Given the description of an element on the screen output the (x, y) to click on. 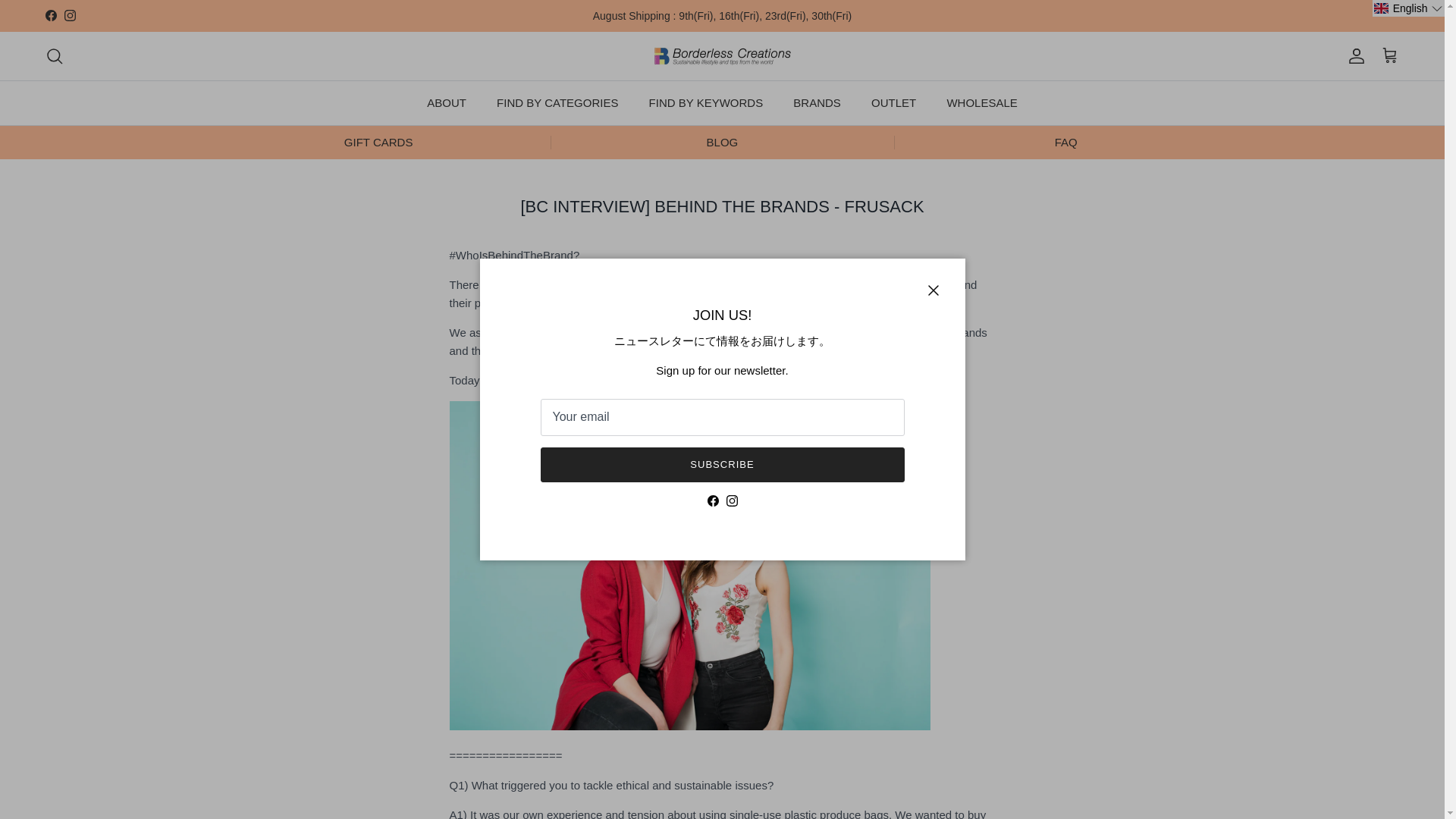
FIND BY KEYWORDS (705, 103)
Borderless Creations on Facebook (711, 500)
WHOLESALE (981, 103)
Borderless Creations on Instagram (69, 15)
Search (54, 55)
Account (1352, 55)
Facebook (50, 15)
Borderless Creations on Facebook (50, 15)
OUTLET (893, 103)
BRANDS (816, 103)
FIND BY CATEGORIES (557, 103)
Borderless Creations on Instagram (732, 500)
Cart (1389, 55)
Instagram (69, 15)
ABOUT (446, 103)
